Given the description of an element on the screen output the (x, y) to click on. 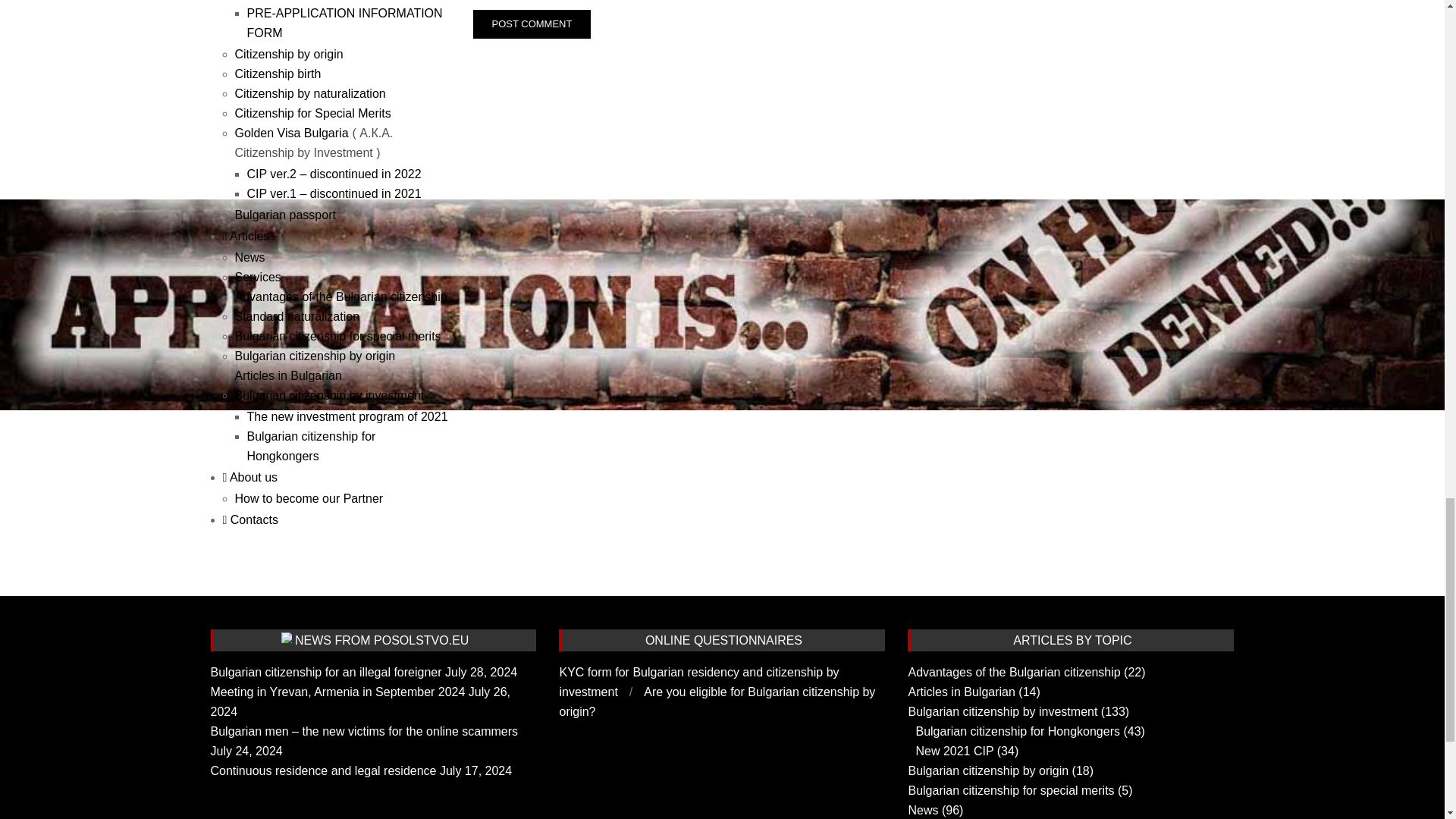
Post Comment (532, 23)
